Given the description of an element on the screen output the (x, y) to click on. 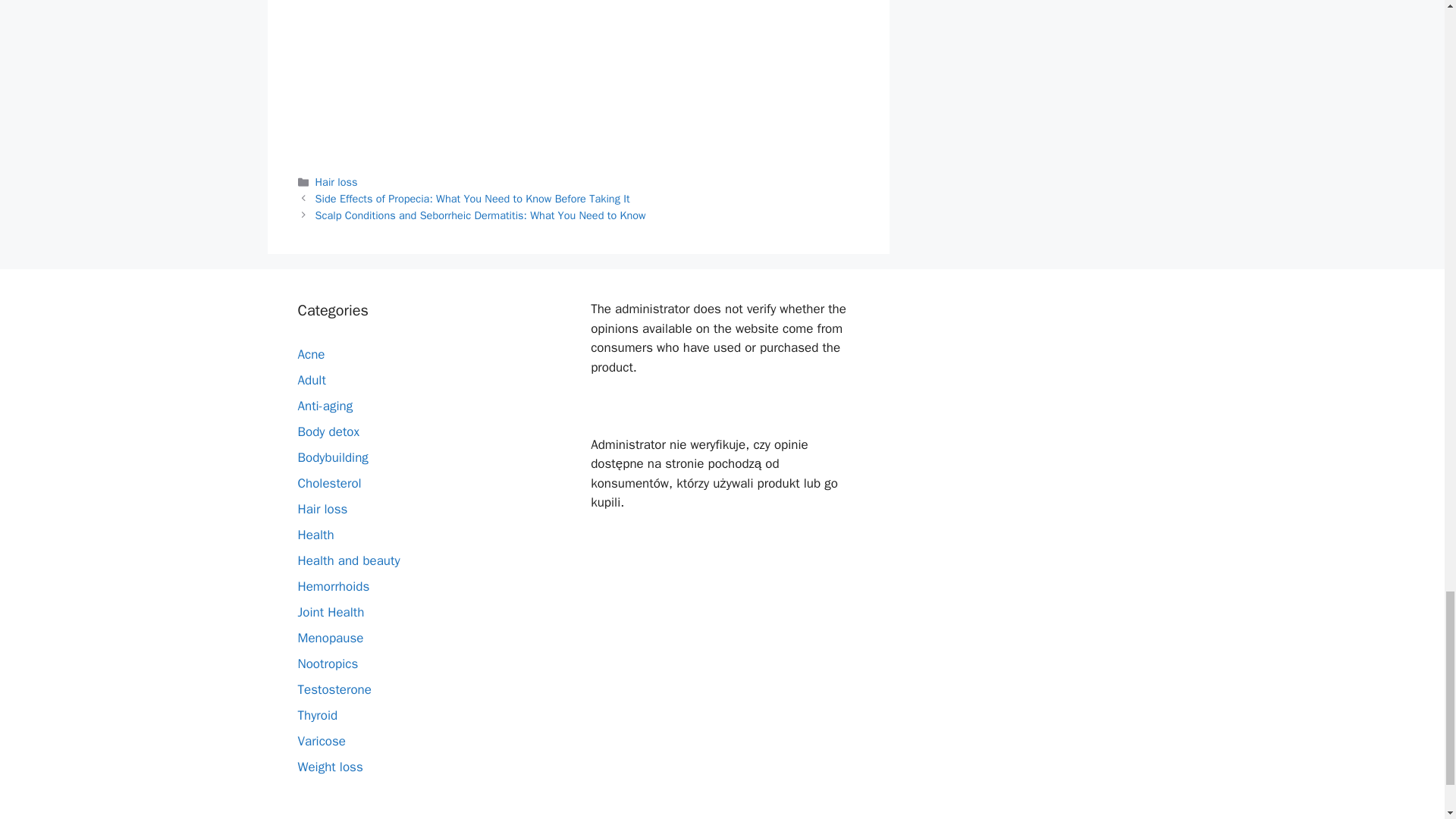
Cholesterol (329, 483)
Anti-aging (324, 406)
Acne (310, 354)
Bodybuilding (332, 457)
Body detox (327, 431)
Hair loss (322, 508)
Hair loss (336, 182)
Adult (310, 380)
